Given the description of an element on the screen output the (x, y) to click on. 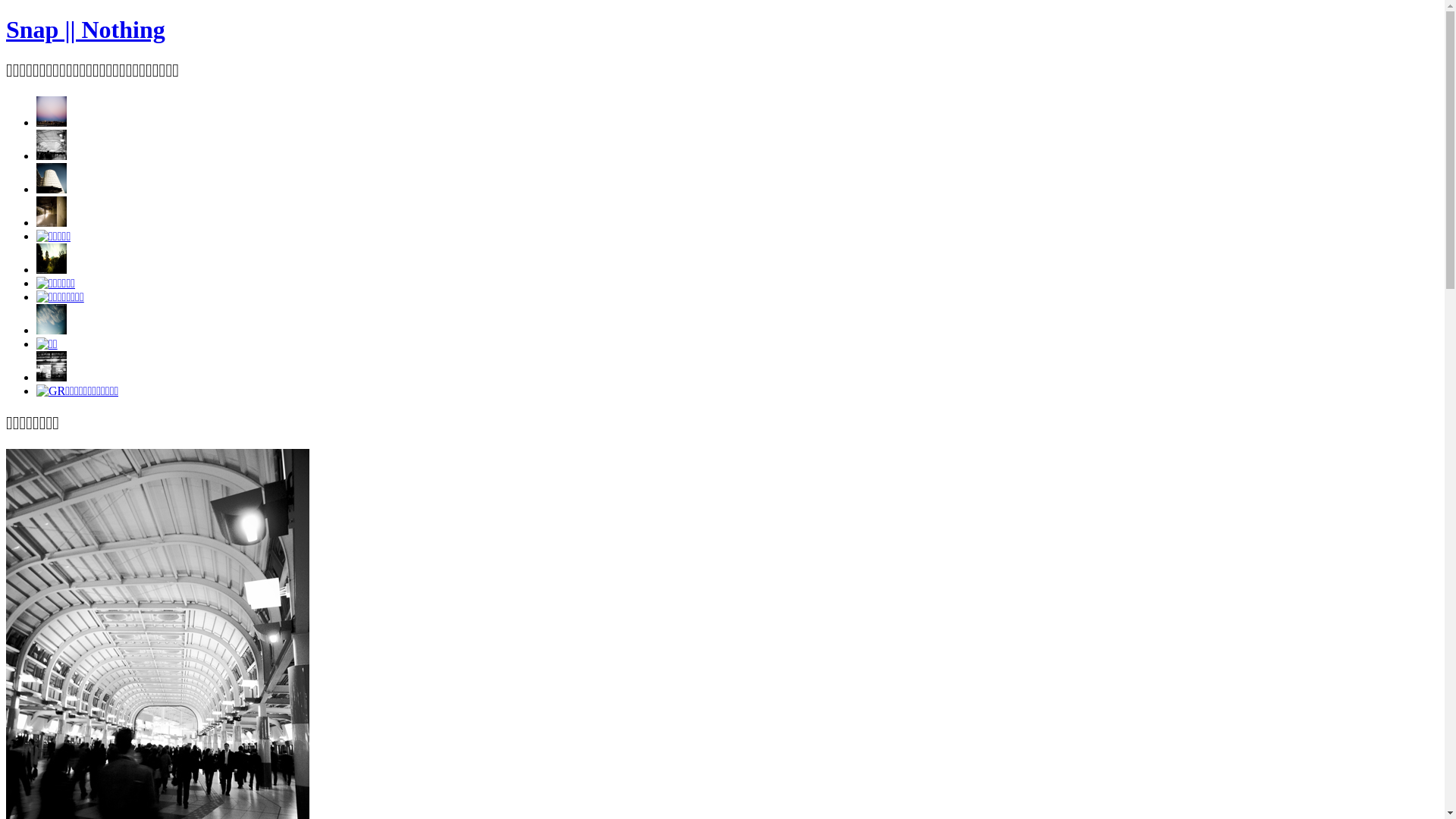
Snap || Nothing Element type: text (85, 29)
